Given the description of an element on the screen output the (x, y) to click on. 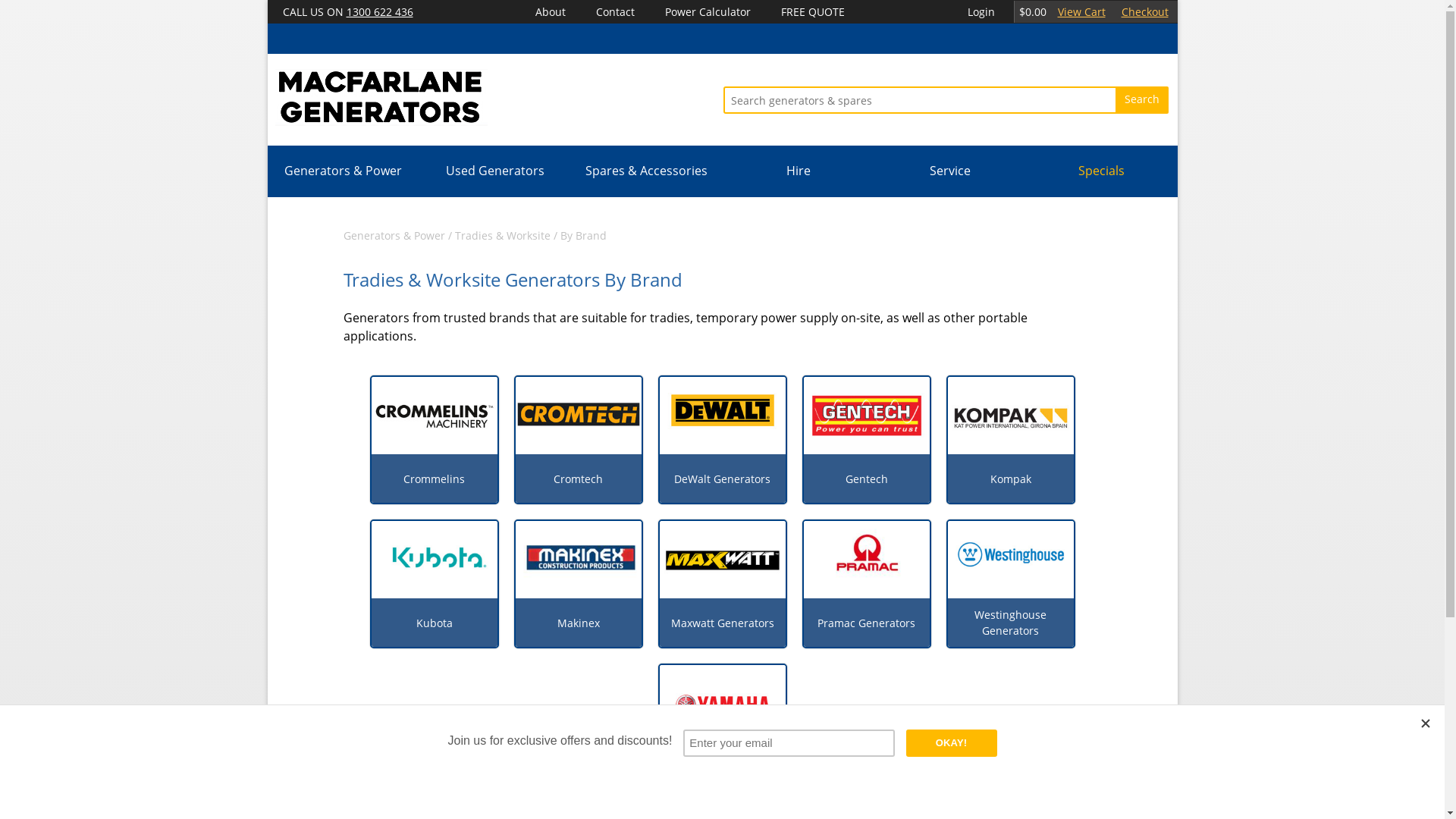
Search Element type: text (1141, 99)
Pramac Generators Element type: text (866, 622)
Maxwatt Generators Element type: text (722, 622)
Generators & Power Element type: text (393, 235)
Makinex Element type: text (578, 622)
Cromtech Element type: text (577, 478)
Checkout Element type: text (1144, 11)
Contact Element type: text (614, 11)
Power Calculator Element type: text (707, 11)
Specials Element type: text (1101, 171)
1300 622 436 Element type: text (378, 11)
About Element type: text (550, 11)
Crommelins Element type: text (433, 478)
Login Element type: text (980, 11)
Service Element type: text (950, 171)
Used Generators Element type: text (495, 171)
By Brand Element type: text (582, 235)
DeWalt Generators Element type: text (722, 478)
Gentech Element type: text (866, 478)
Kubota Element type: text (434, 622)
FREE QUOTE Element type: text (812, 11)
Tradies & Worksite Element type: text (502, 235)
Generators & Power Element type: text (343, 171)
Hire Element type: text (798, 171)
Yamaha Element type: text (721, 766)
Spares & Accessories Element type: text (646, 171)
View Cart Element type: text (1080, 11)
Kompak Element type: text (1009, 478)
Westinghouse Generators Element type: text (1010, 622)
